Given the description of an element on the screen output the (x, y) to click on. 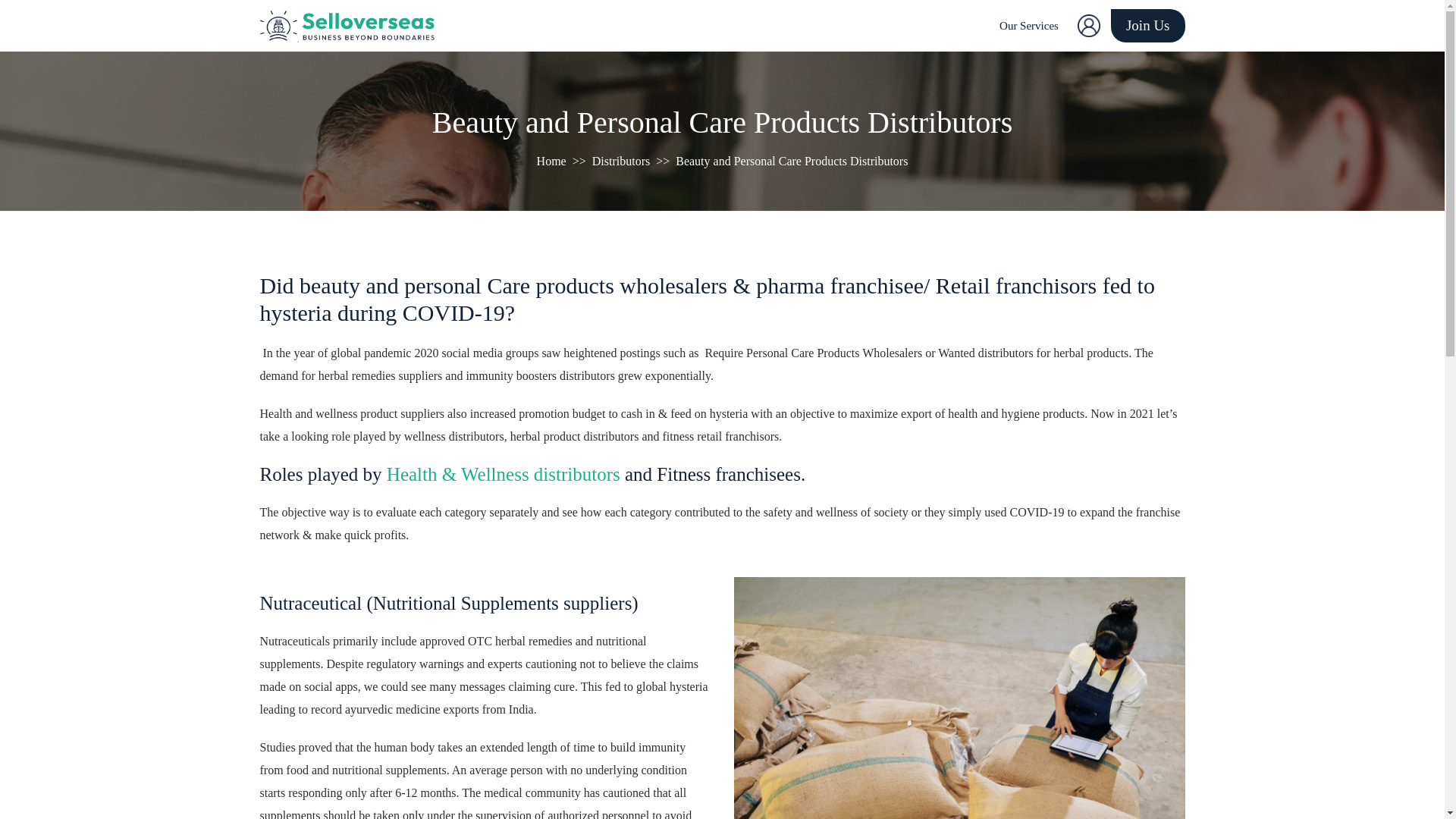
Home (551, 160)
Distributors (620, 160)
Join Us (1147, 25)
Distributors (620, 160)
Sell Overseas (551, 160)
Our Services (1028, 25)
